Given the description of an element on the screen output the (x, y) to click on. 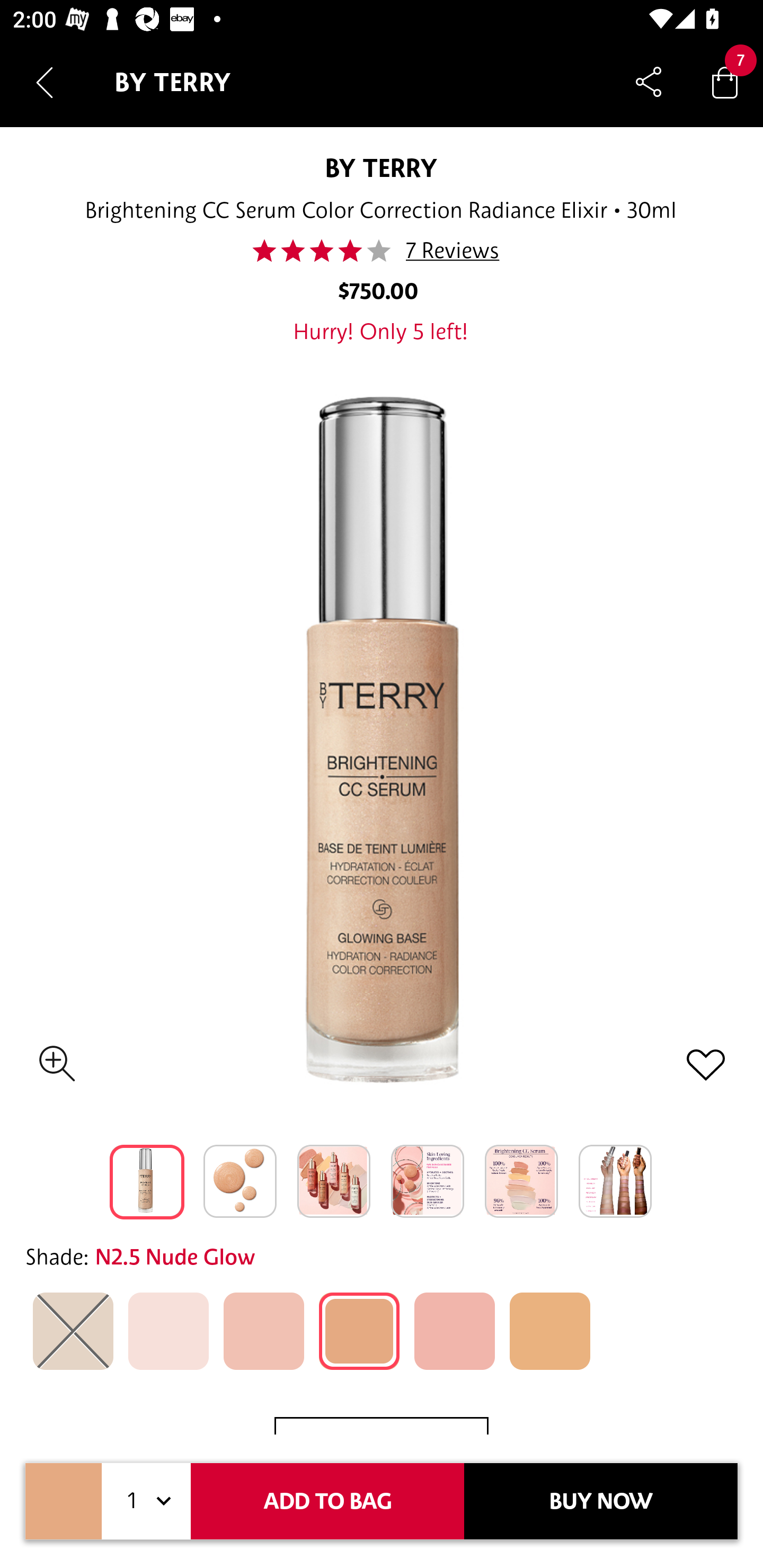
Navigate up (44, 82)
Share (648, 81)
Bag (724, 81)
BY TERRY (381, 167)
40.0 7 Reviews (381, 250)
1 (145, 1500)
ADD TO BAG (326, 1500)
BUY NOW (600, 1500)
